Given the description of an element on the screen output the (x, y) to click on. 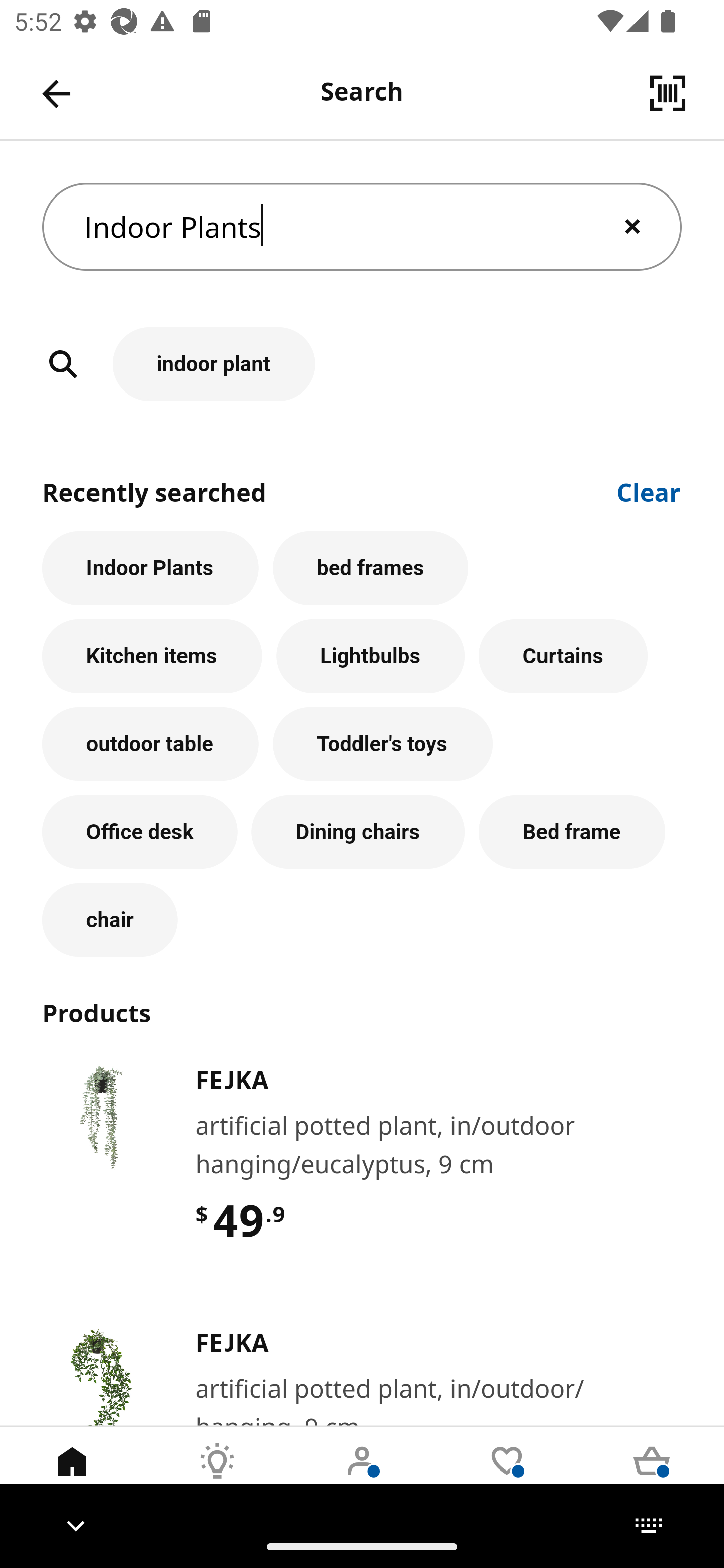
Indoor Plants (361, 227)
indoor plant (361, 364)
Clear (649, 490)
Indoor Plants (150, 568)
bed frames (370, 568)
Kitchen items (151, 656)
Lightbulbs (370, 656)
Curtains (562, 656)
outdoor table (150, 743)
Toddler's toys (382, 743)
Office desk (139, 831)
Dining chairs (357, 831)
Bed frame (571, 831)
chair (109, 919)
Home
Tab 1 of 5 (72, 1476)
